Given the description of an element on the screen output the (x, y) to click on. 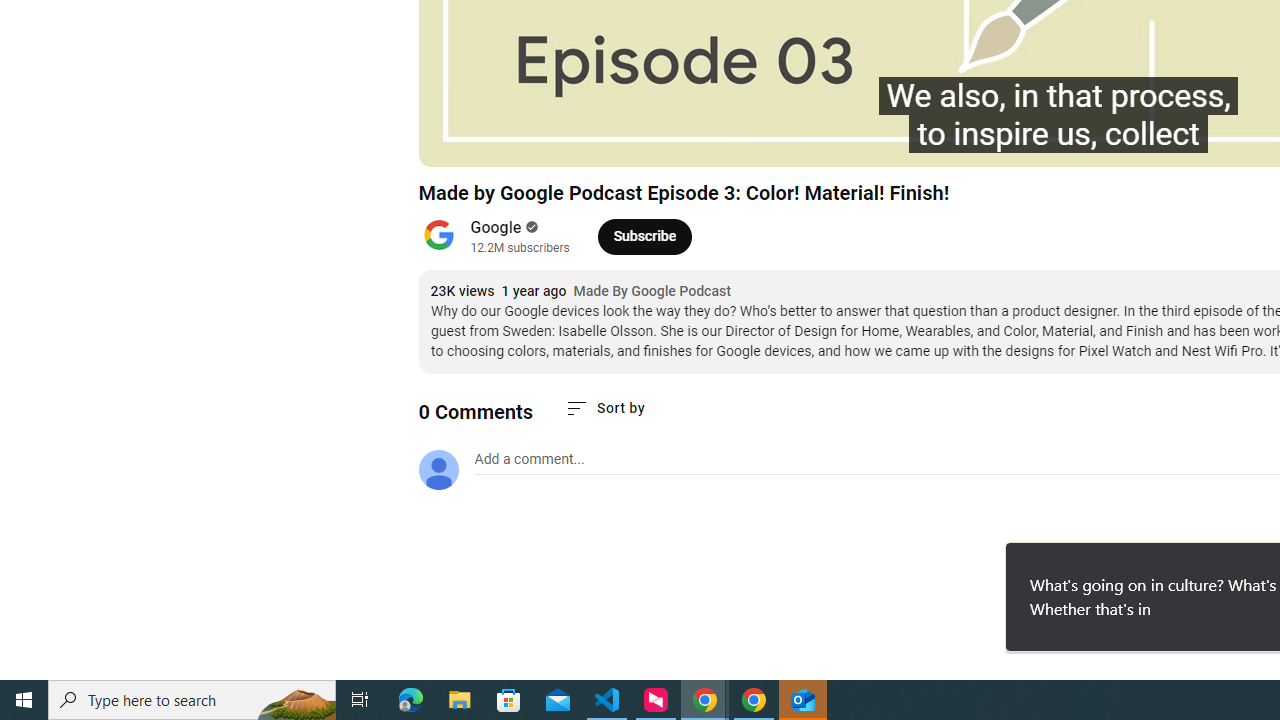
Made By Google Podcast (651, 291)
Default profile photo (438, 470)
Sort comments (604, 408)
Verified (530, 227)
Subscribe to Google. (644, 236)
Next (SHIFT+n) (500, 142)
Mute (m) (548, 142)
AutomationID: simplebox-placeholder (528, 459)
Pause (k) (453, 142)
